Given the description of an element on the screen output the (x, y) to click on. 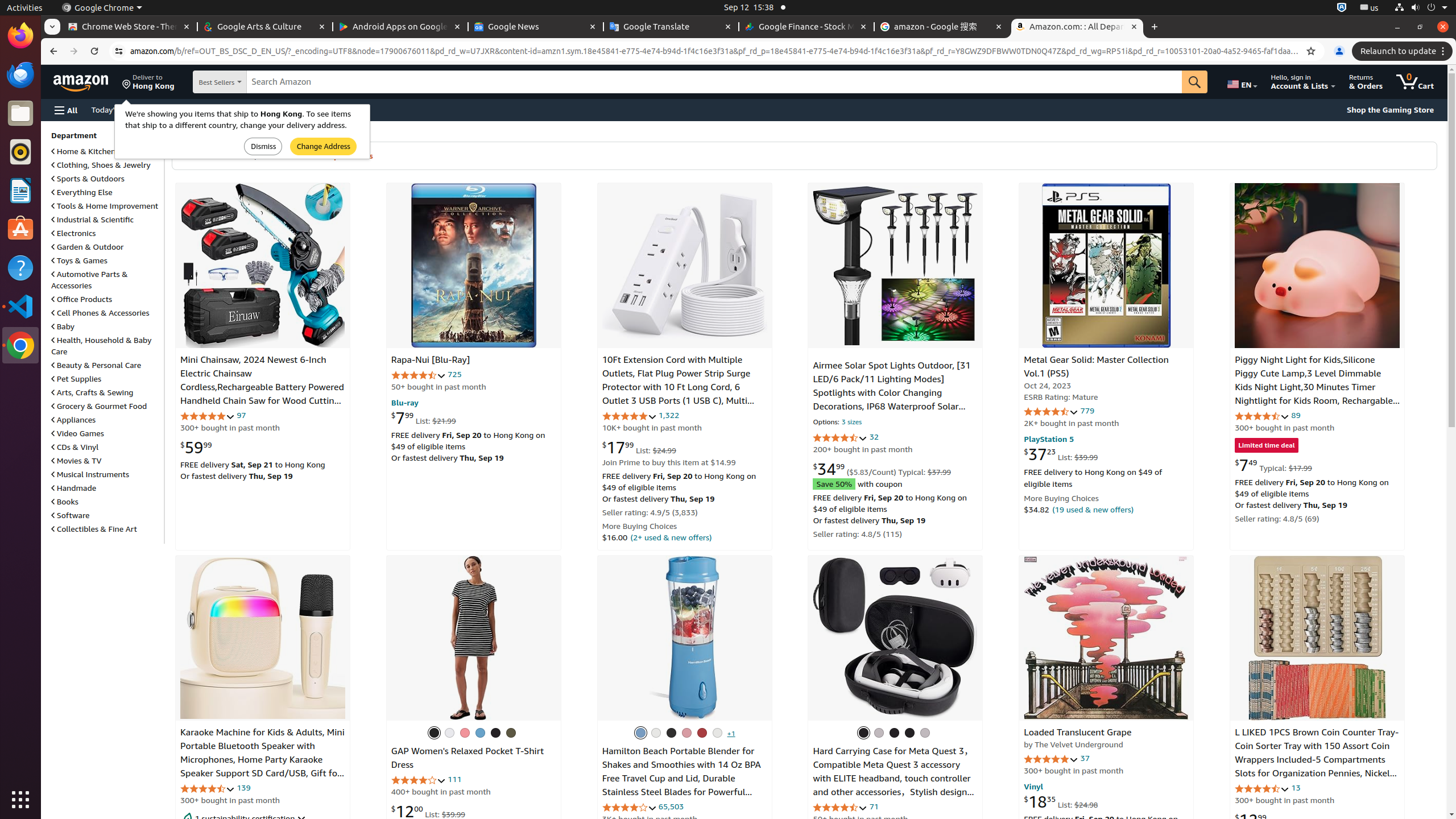
Black Stripe Element type: push-button (433, 732)
Hamilton Beach Portable Blender for Shakes and Smoothies with 14 Oz BPA Free Travel Cup and Lid, Durable Stainless Steel B... Element type: link (684, 637)
4.8 out of 5 stars Element type: push-button (628, 416)
Metal Gear Solid: Master Collection Vol.1 (PS5) Element type: link (1106, 265)
$59.99 Element type: link (196, 446)
